Given the description of an element on the screen output the (x, y) to click on. 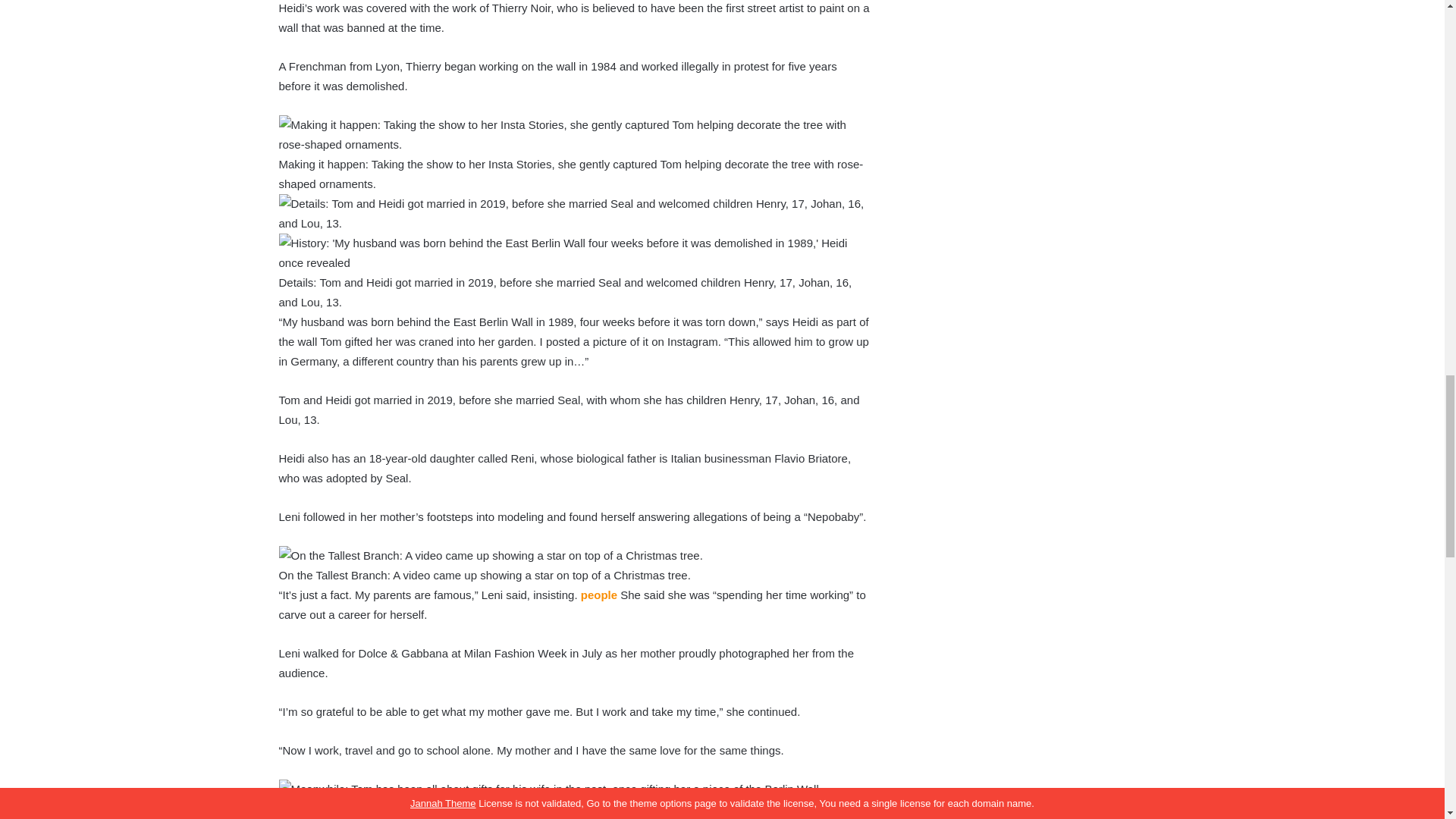
people (598, 594)
